Given the description of an element on the screen output the (x, y) to click on. 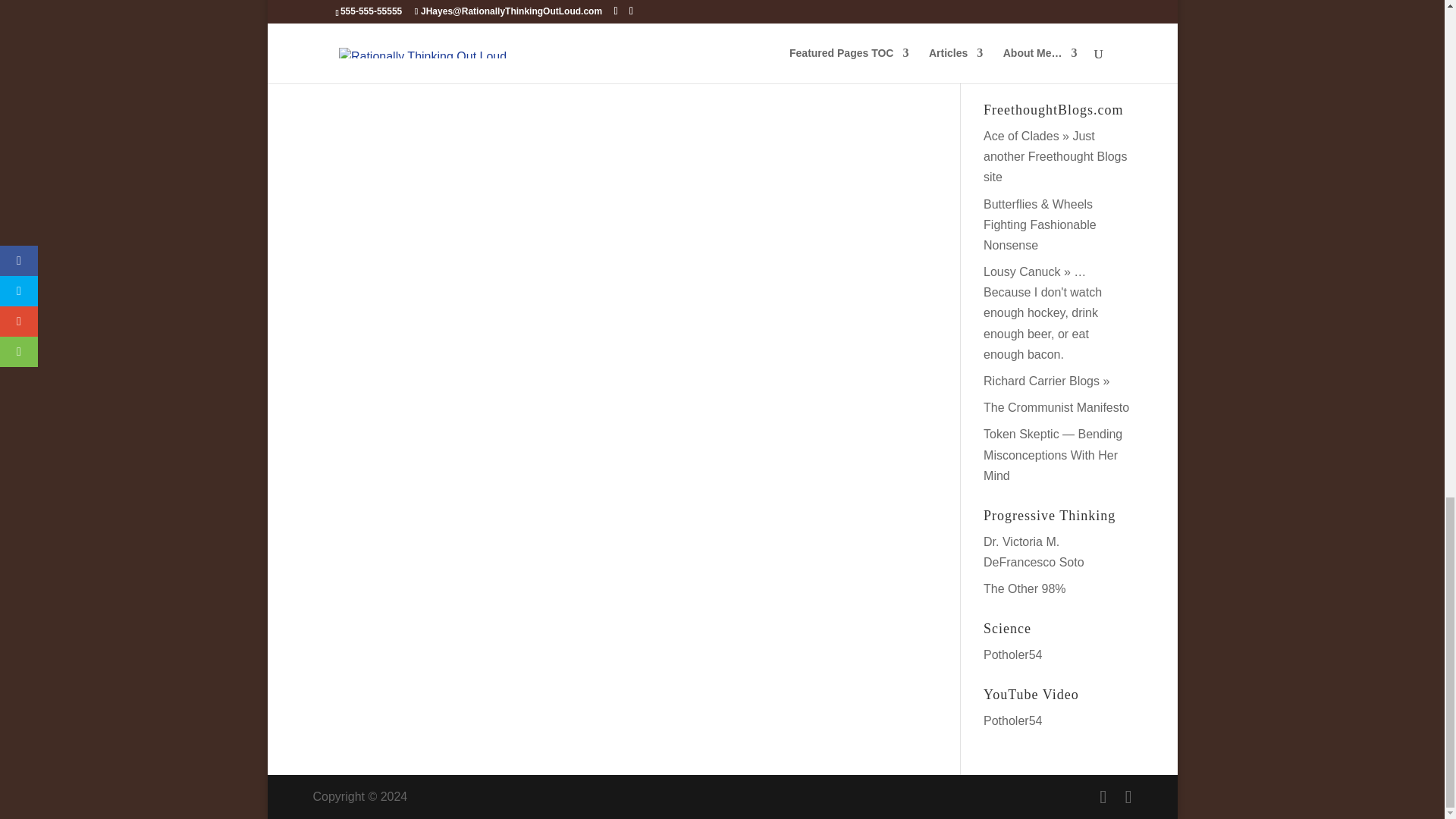
An Analysis of Key Questions (1017, 42)
Because no banker is too big to jail. (1024, 588)
